Given the description of an element on the screen output the (x, y) to click on. 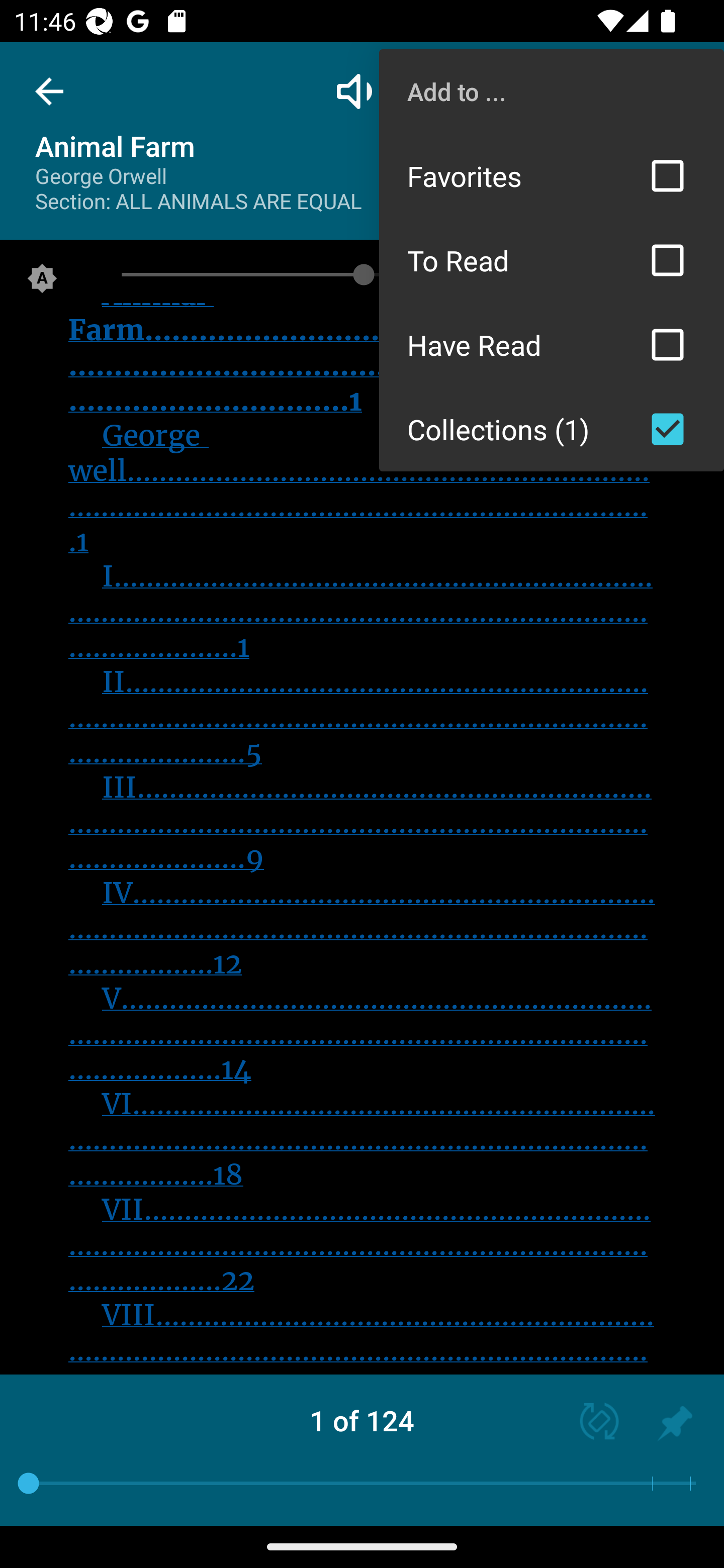
Favorites (551, 175)
To Read (551, 259)
Have Read (551, 344)
Collections (1) (551, 429)
